Given the description of an element on the screen output the (x, y) to click on. 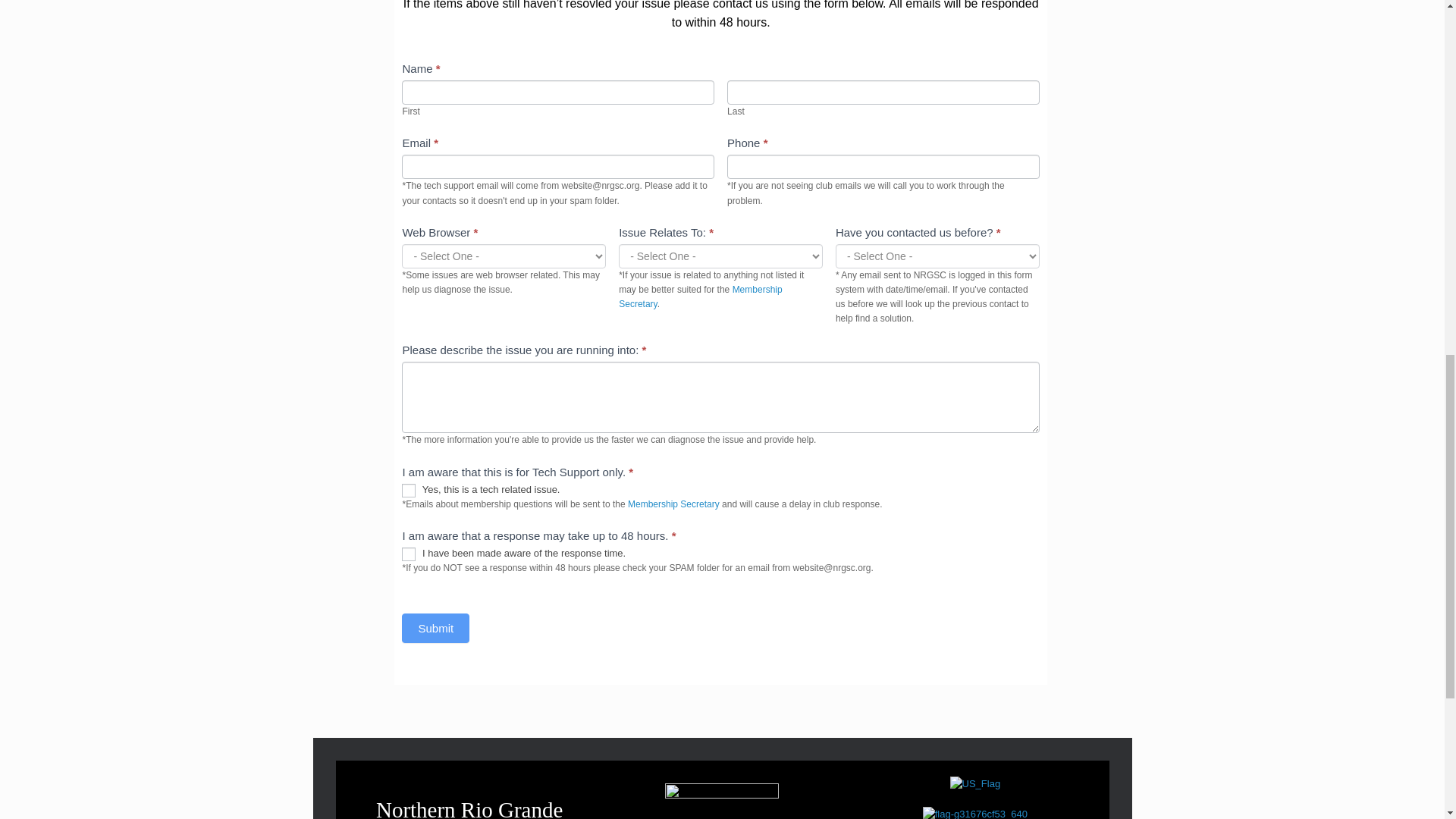
Submit (434, 627)
Membership Secretary (699, 296)
I have been made aware of the response time. (407, 554)
Membership Secretary (673, 503)
Yes, this is a tech related issue. (407, 490)
